Given the description of an element on the screen output the (x, y) to click on. 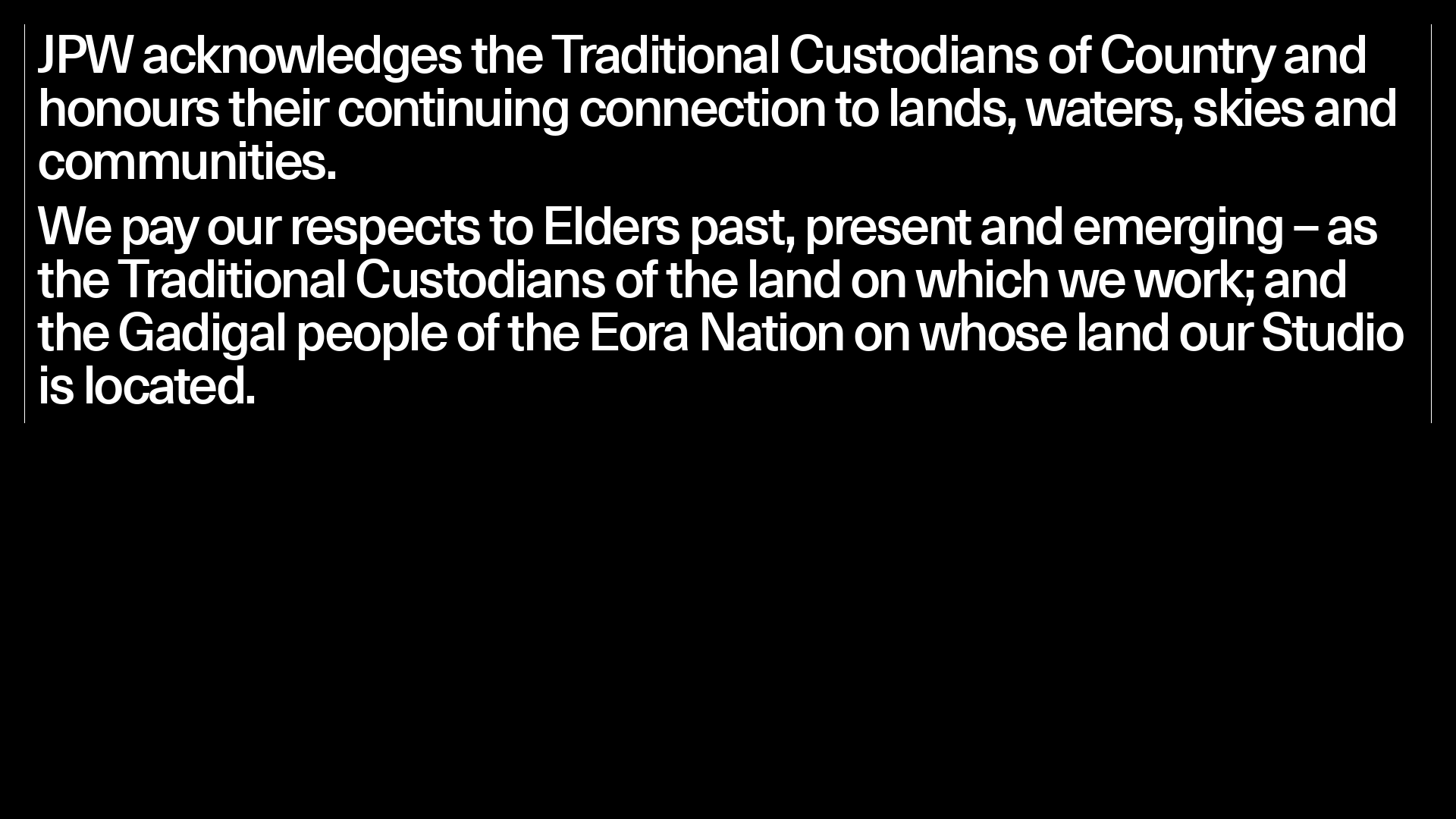
Studio Element type: text (186, 64)
People Element type: text (908, 64)
Contact Element type: text (1356, 64)
Back to Projects Element type: text (191, 375)
News Element type: text (1182, 64)
Projects Element type: text (547, 64)
